Given the description of an element on the screen output the (x, y) to click on. 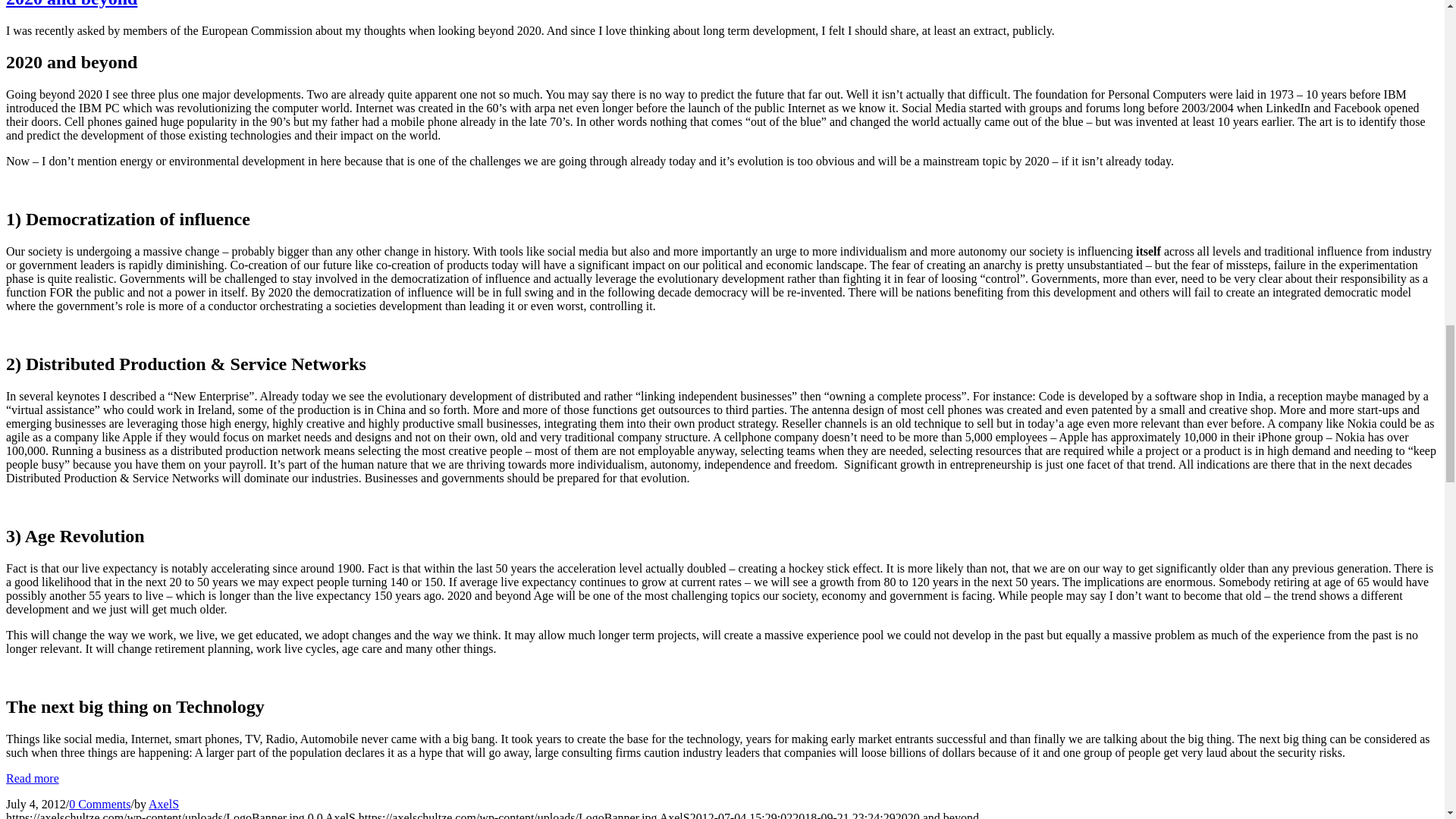
Read more (32, 778)
2020 and beyond (70, 4)
AxelS (163, 803)
Permanent Link: 2020 and beyond (70, 4)
0 Comments (99, 803)
Posts by AxelS (163, 803)
